Given the description of an element on the screen output the (x, y) to click on. 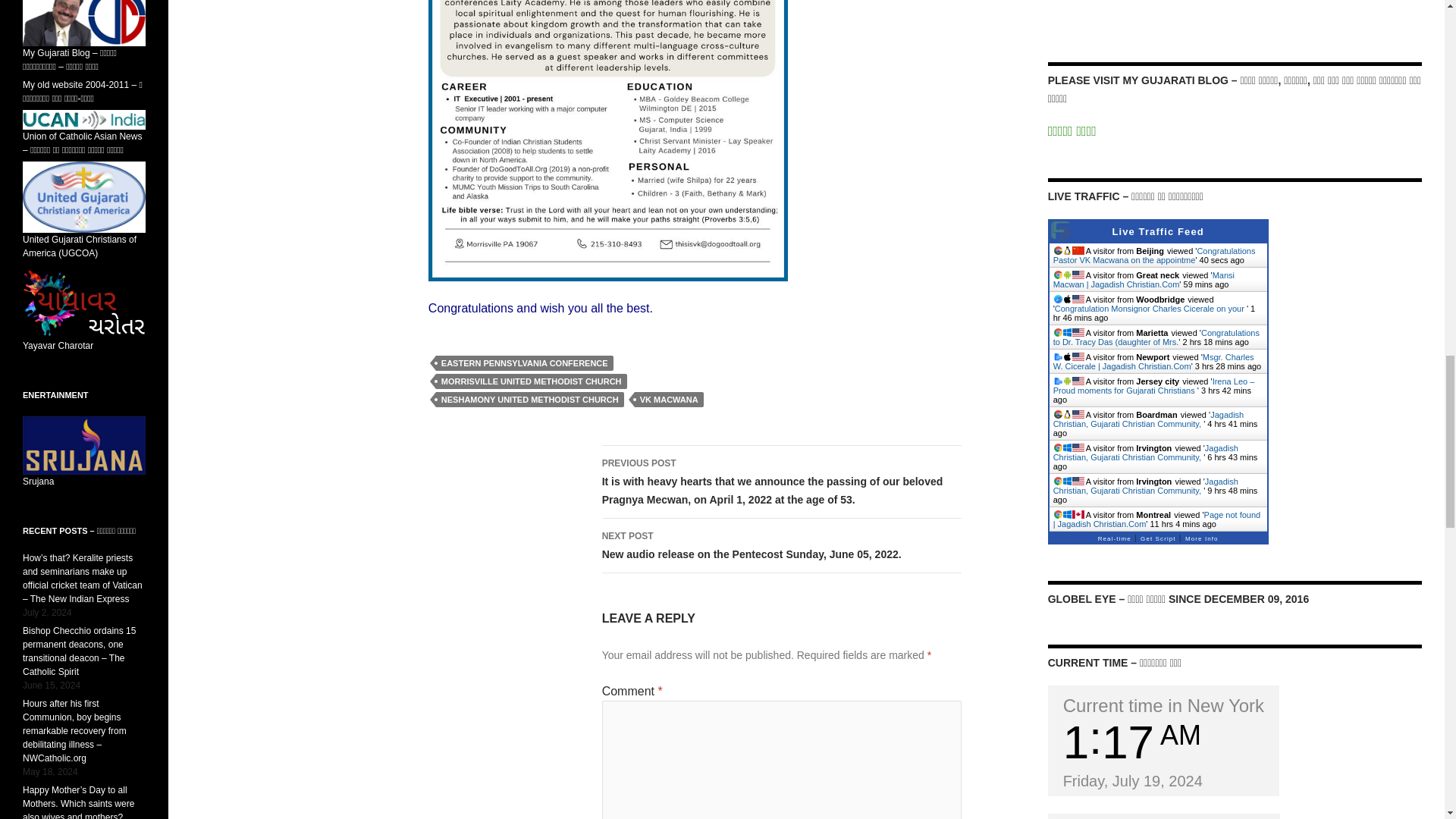
United States (1077, 298)
MORRISVILLE UNITED METHODIST CHURCH (531, 381)
NESHAMONY UNITED METHODIST CHURCH (529, 399)
Headless Chrome (1058, 250)
Chrome (1058, 332)
Mobile Safari (1058, 298)
China (1077, 250)
Chrome Mobile (1058, 275)
Congratulation Monsignor Charles Cicerale on your (1150, 307)
Android (1066, 275)
iOS (1066, 298)
GNU Linux (1066, 250)
Windows (1066, 332)
United States (1077, 275)
